Given the description of an element on the screen output the (x, y) to click on. 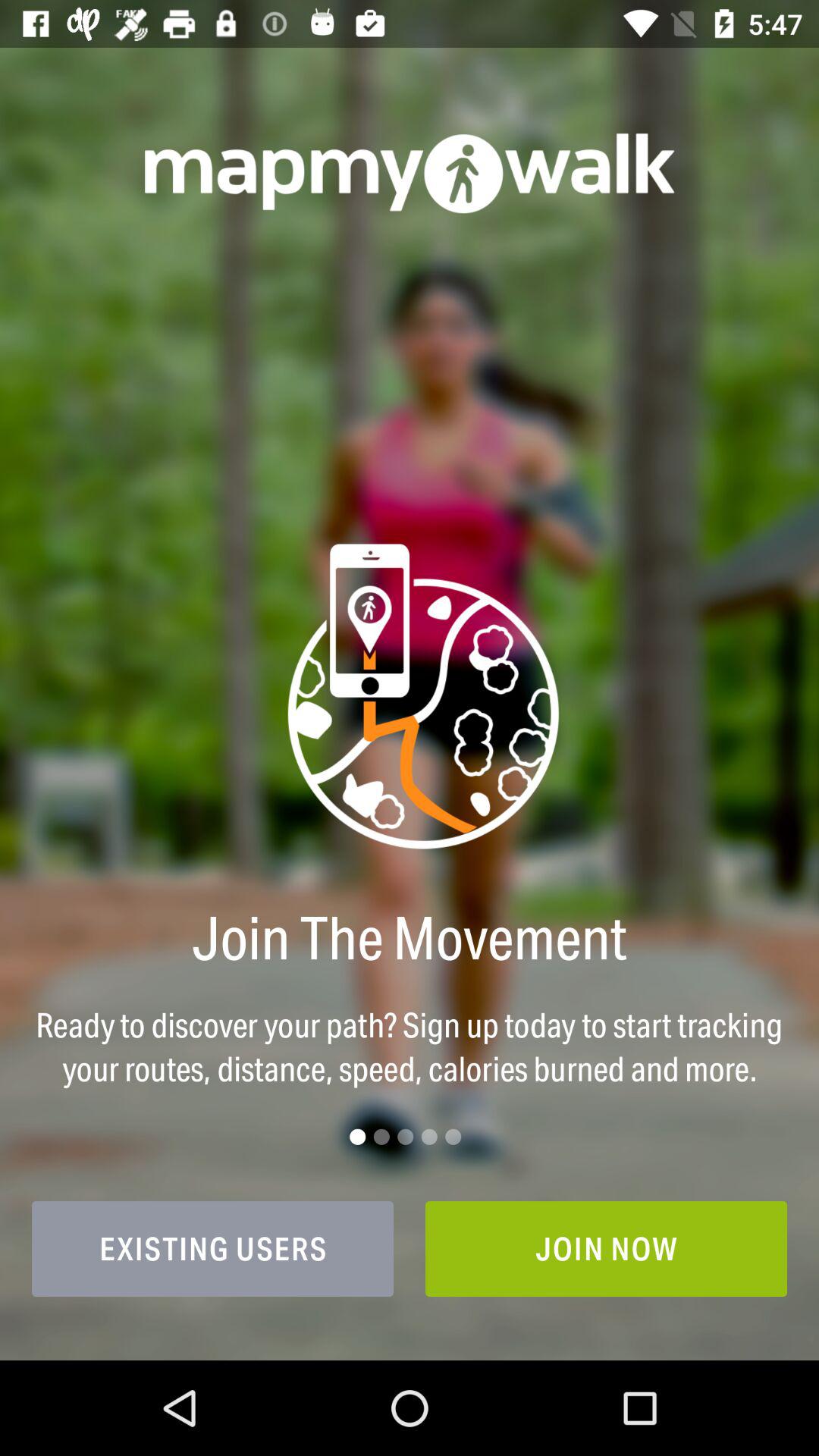
tap item next to join now item (212, 1248)
